Given the description of an element on the screen output the (x, y) to click on. 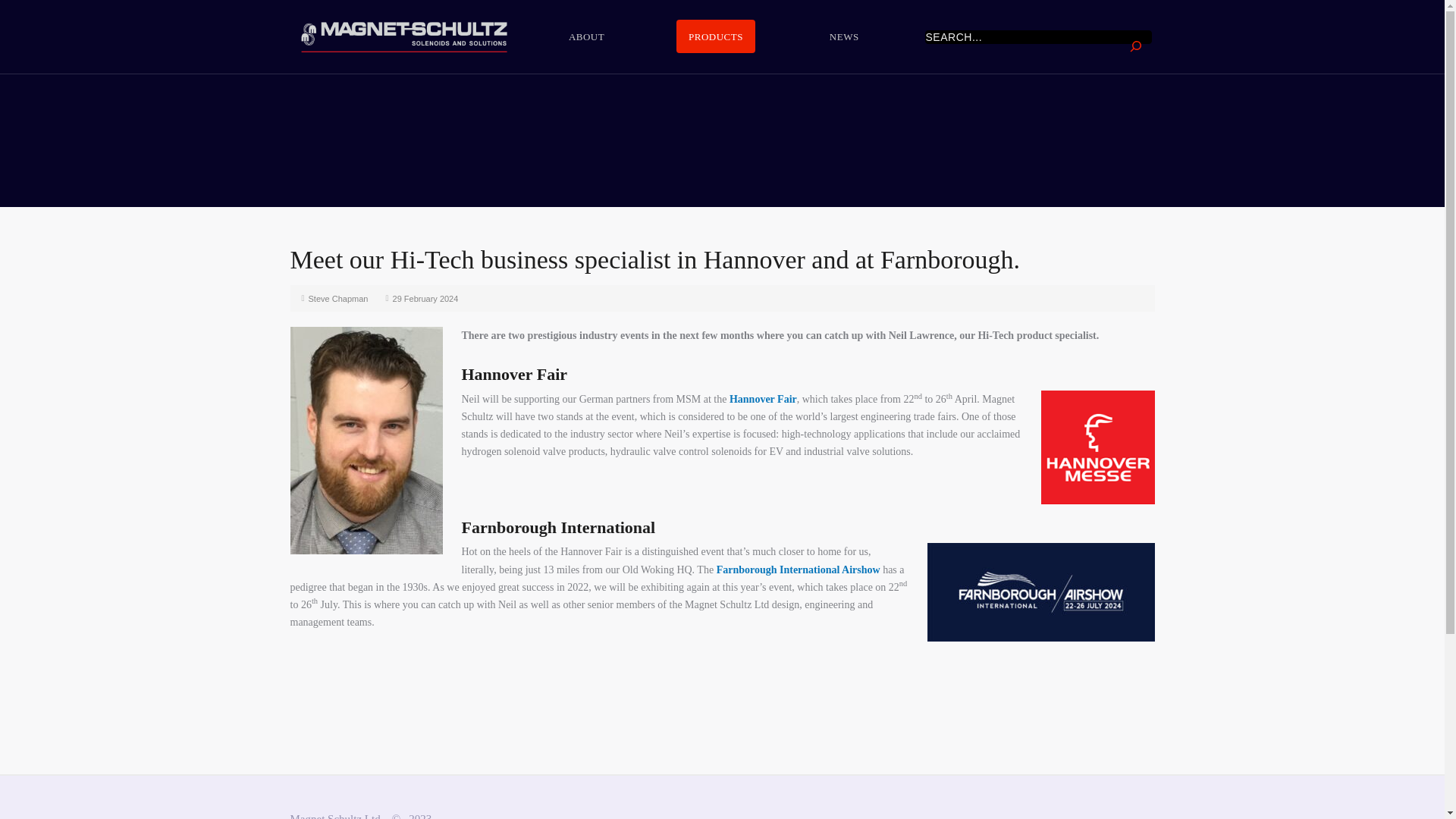
Magnet Schultz Limited (402, 36)
PRODUCTS (716, 36)
Posts by Steve Chapman (338, 298)
Farnborough International Airshow (798, 569)
29 February 2024 (425, 298)
Hannover Fair (762, 398)
Steve Chapman (338, 298)
